Given the description of an element on the screen output the (x, y) to click on. 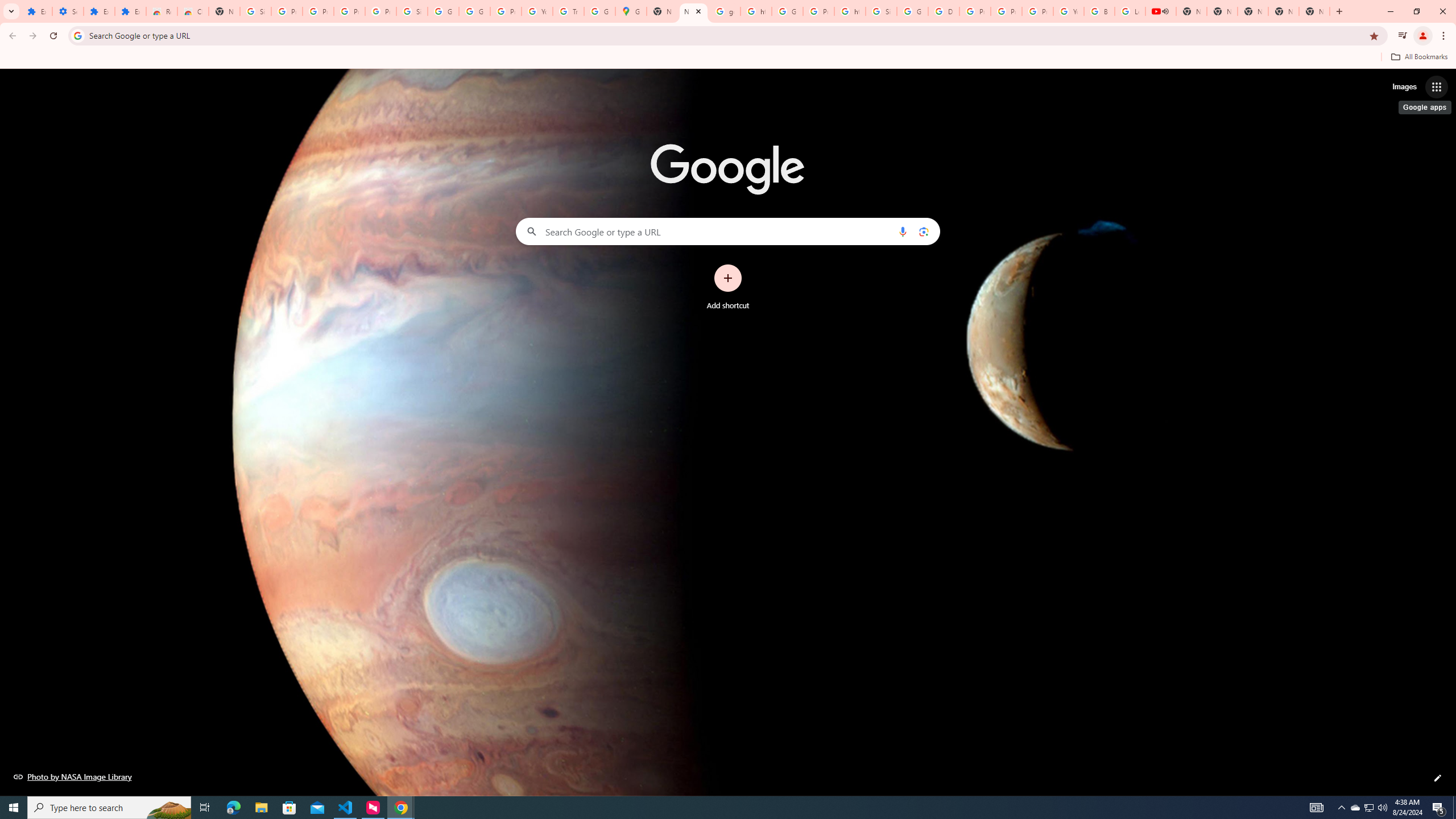
Google Maps (631, 11)
Chrome Web Store - Themes (192, 11)
YouTube (536, 11)
Search by voice (902, 230)
Extensions (36, 11)
Reload (52, 35)
Search tabs (10, 11)
Extensions (130, 11)
Bookmark this tab (1373, 35)
Privacy Help Center - Policies Help (974, 11)
Sign in - Google Accounts (881, 11)
